Given the description of an element on the screen output the (x, y) to click on. 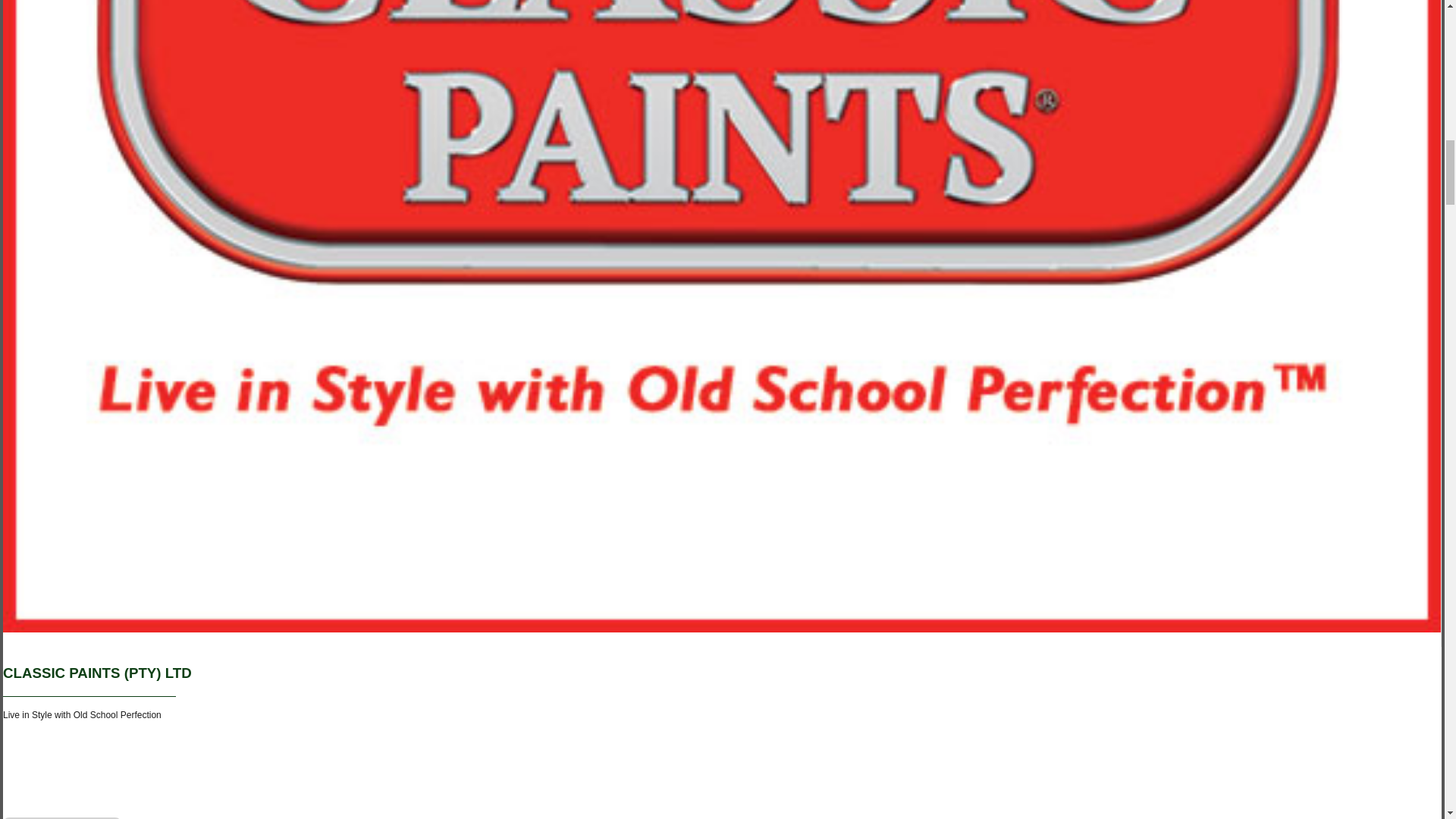
READ MORE (61, 818)
